Given the description of an element on the screen output the (x, y) to click on. 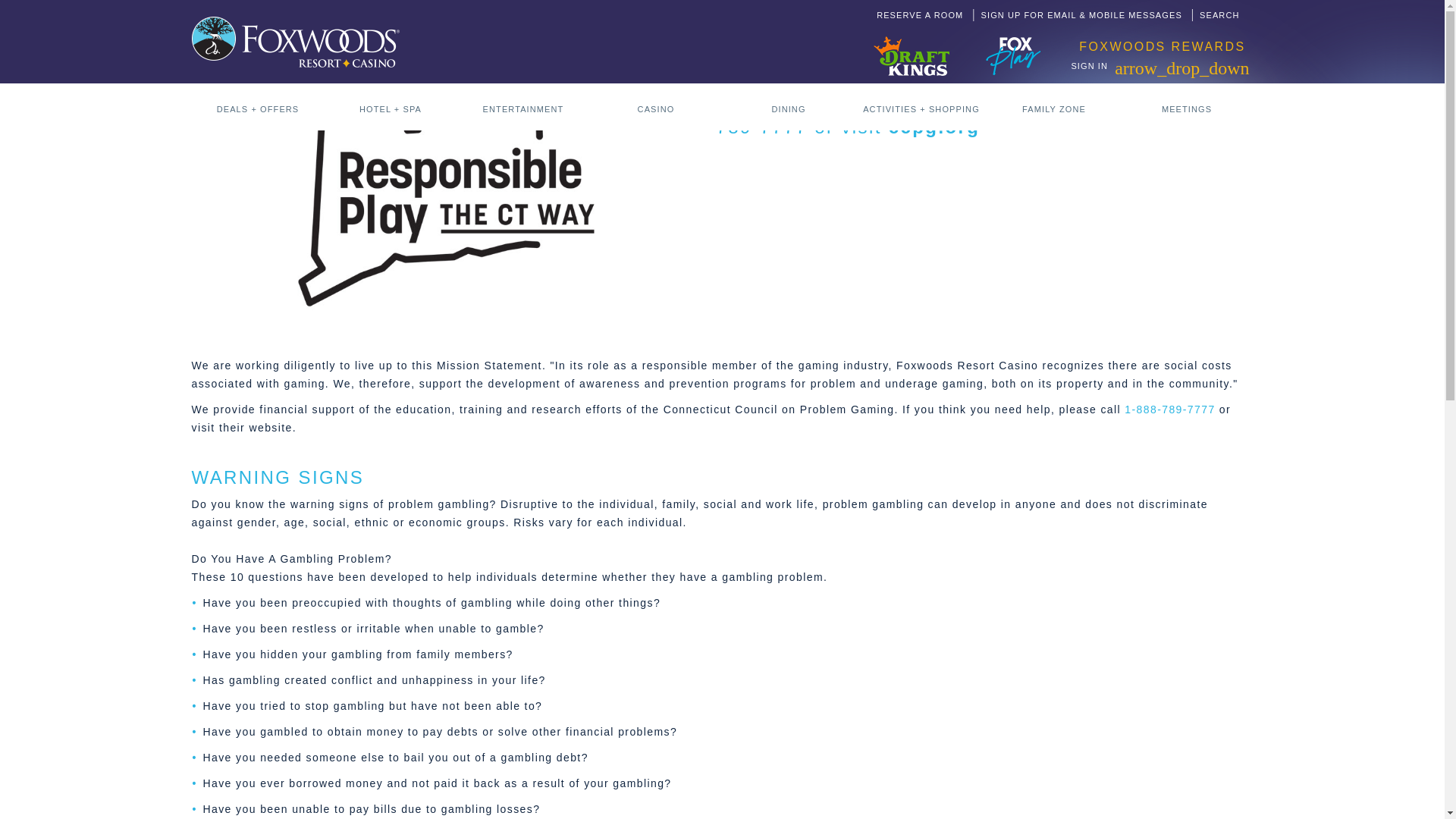
RESERVE A ROOM (921, 13)
Official Sports Betting Partner of Foxwoods (911, 43)
SEARCH (1218, 13)
Subscribe to Email Offers (1083, 13)
Reserve A Room (921, 13)
Foxwoods Rewards (1161, 46)
Foxwoods Resort Casino (294, 41)
Foxplay Online Casino (1013, 44)
FOXWOODS REWARDS (1161, 46)
ENTERTAINMENT (523, 106)
